Given the description of an element on the screen output the (x, y) to click on. 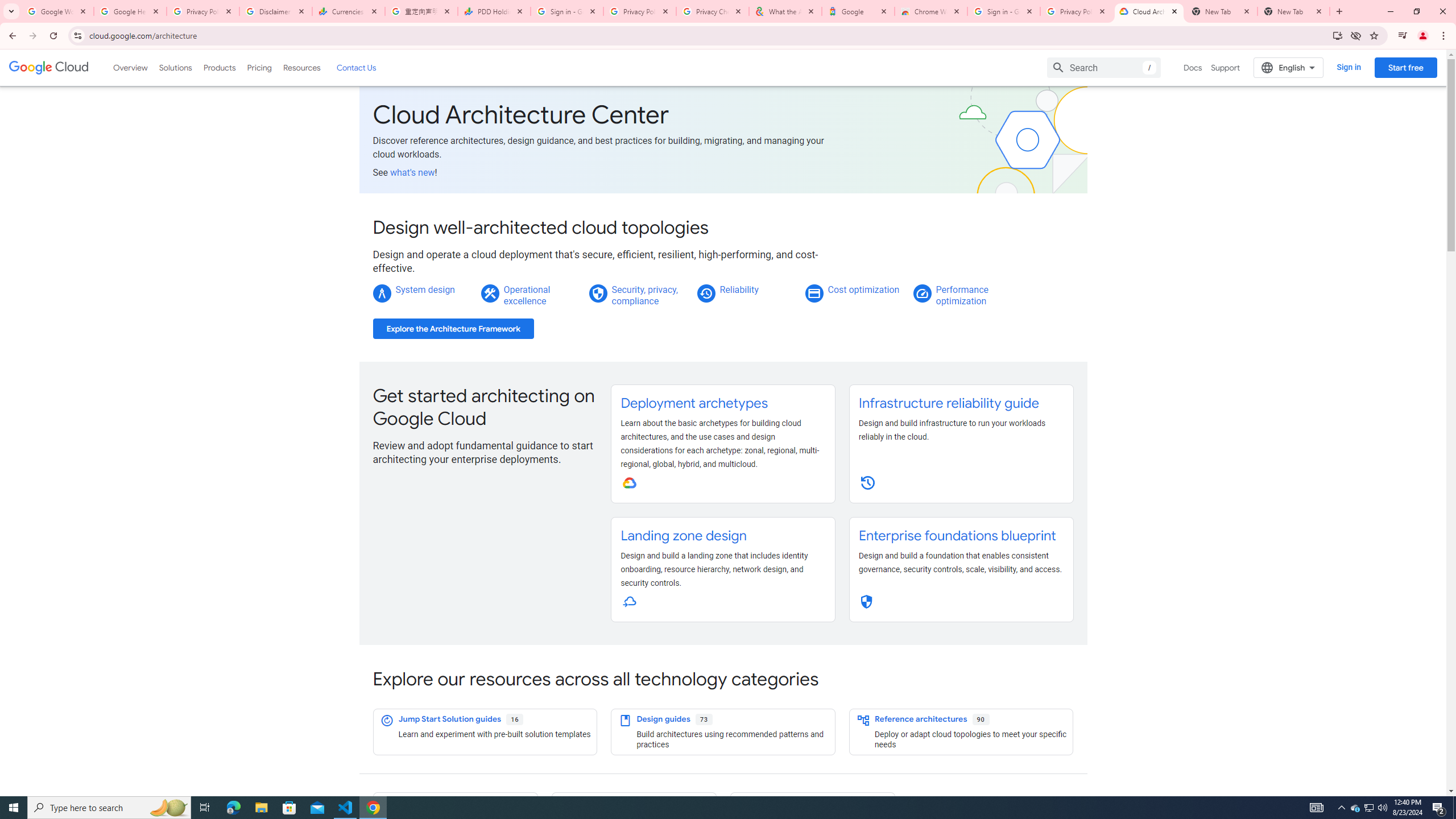
Google Cloud (48, 67)
PDD Holdings Inc - ADR (PDD) Price & News - Google Finance (493, 11)
Start free (1405, 67)
Enterprise foundations blueprint (956, 535)
Operational excellence (526, 295)
what's new (412, 172)
